Given the description of an element on the screen output the (x, y) to click on. 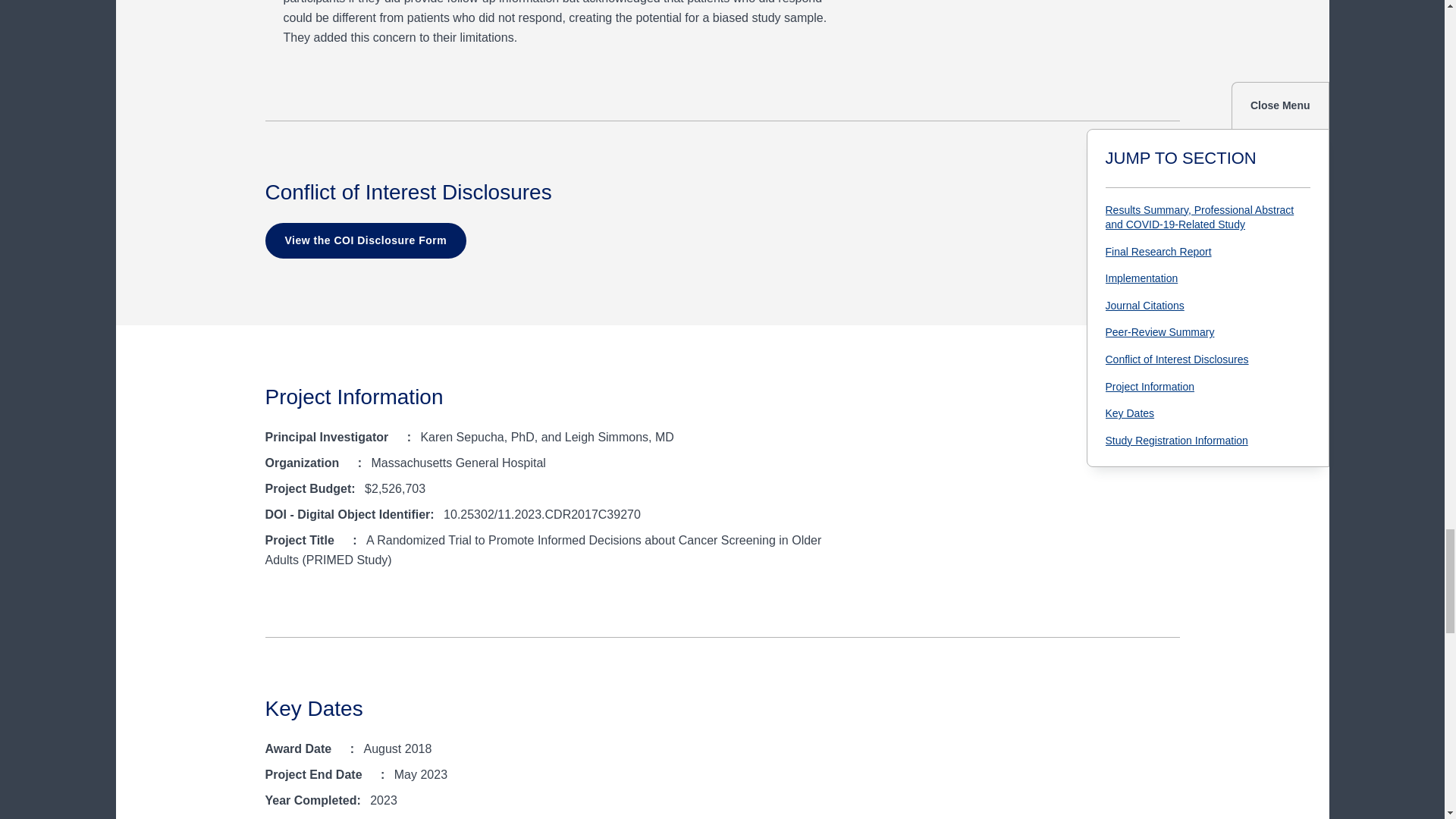
More Information (399, 437)
More Information (350, 463)
View the COI Disclosure Form (365, 240)
